Given the description of an element on the screen output the (x, y) to click on. 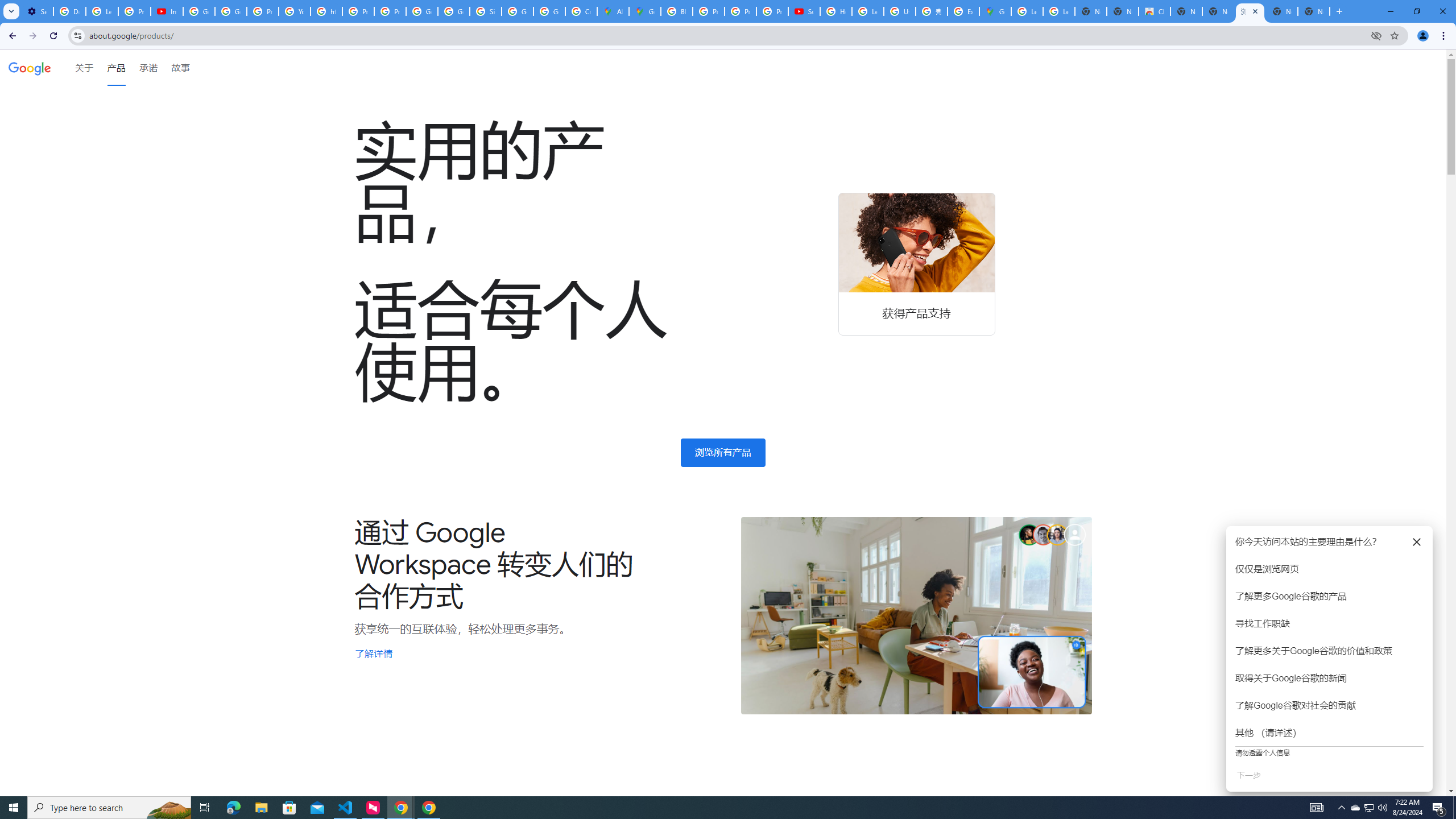
Privacy Help Center - Policies Help (358, 11)
